Given the description of an element on the screen output the (x, y) to click on. 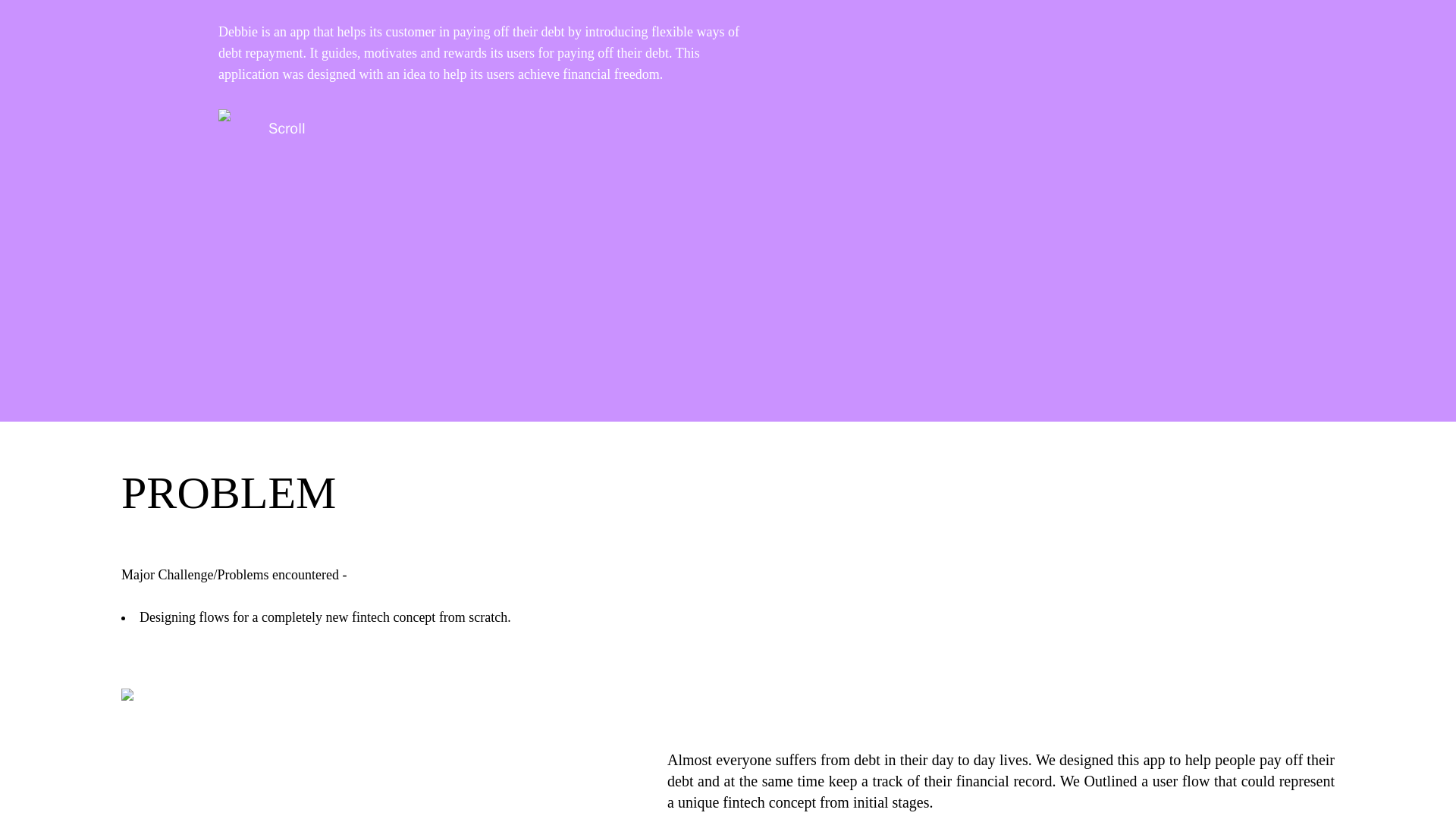
Scroll (261, 130)
